Given the description of an element on the screen output the (x, y) to click on. 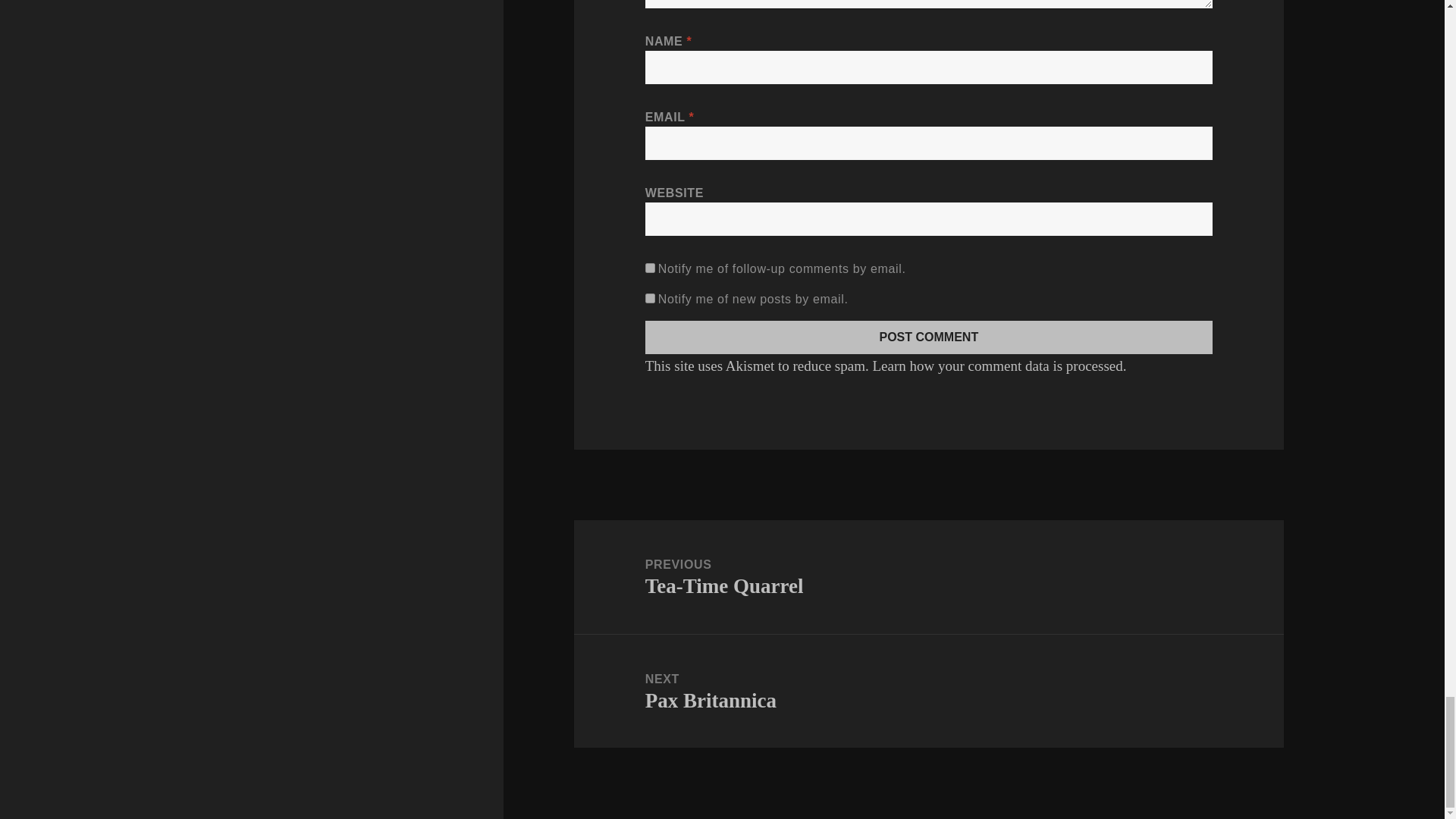
subscribe (650, 267)
subscribe (650, 298)
Post Comment (928, 337)
